Given the description of an element on the screen output the (x, y) to click on. 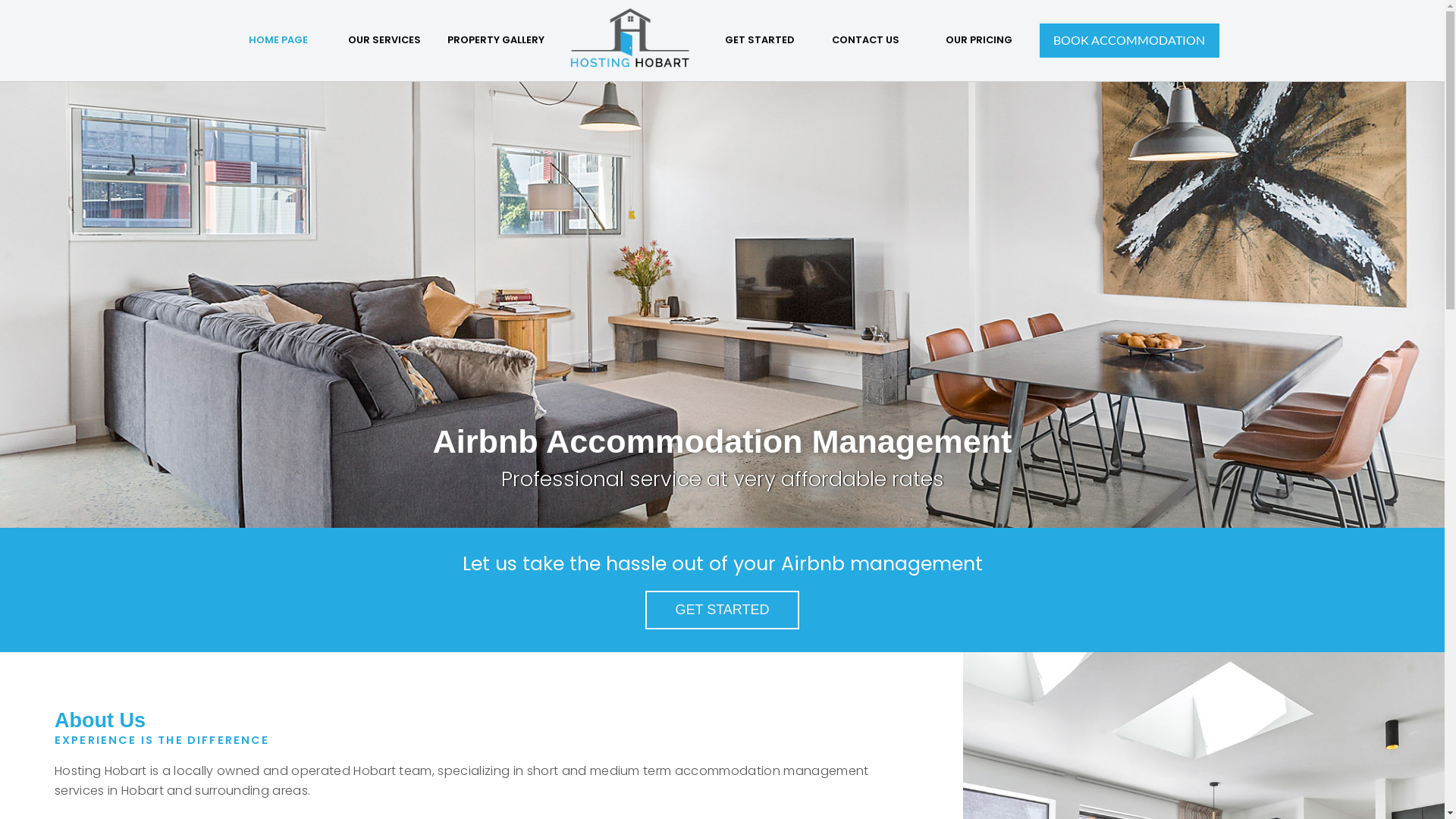
OUR SERVICES Element type: text (384, 40)
PROPERTY GALLERY Element type: text (495, 40)
GET STARTED Element type: text (759, 40)
GET STARTED Element type: text (722, 609)
BOOK ACCOMMODATION Element type: text (1128, 39)
OUR PRICING Element type: text (978, 40)
HOME PAGE Element type: text (278, 40)
CONTACT US Element type: text (865, 40)
